Given the description of an element on the screen output the (x, y) to click on. 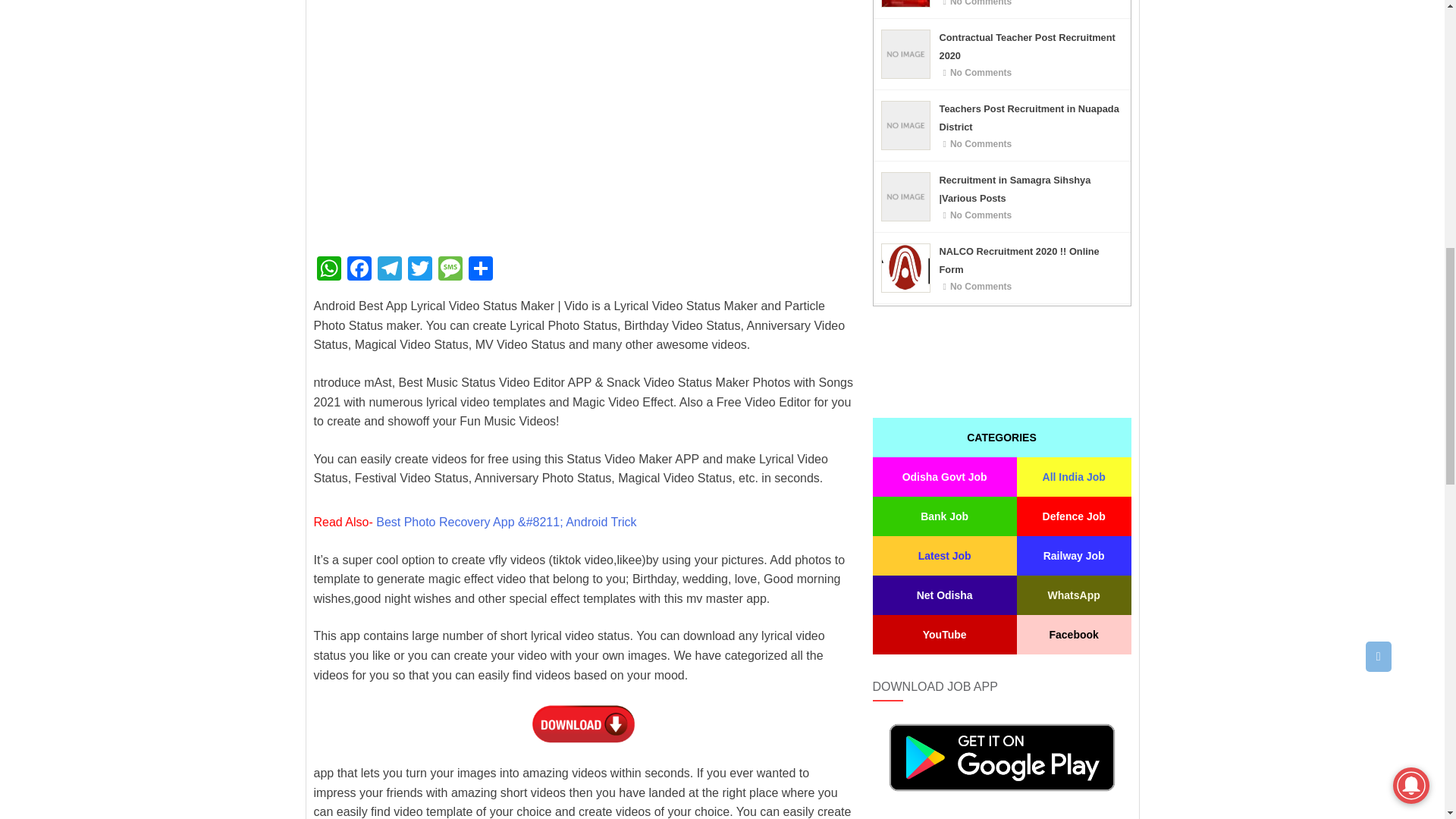
Twitter (419, 270)
Message (450, 270)
WhatsApp (328, 270)
Telegram (389, 270)
Twitter (419, 270)
Telegram (389, 270)
Facebook (358, 270)
Message (450, 270)
Advertisement (583, 137)
Facebook (358, 270)
Share (480, 270)
WhatsApp (328, 270)
